Given the description of an element on the screen output the (x, y) to click on. 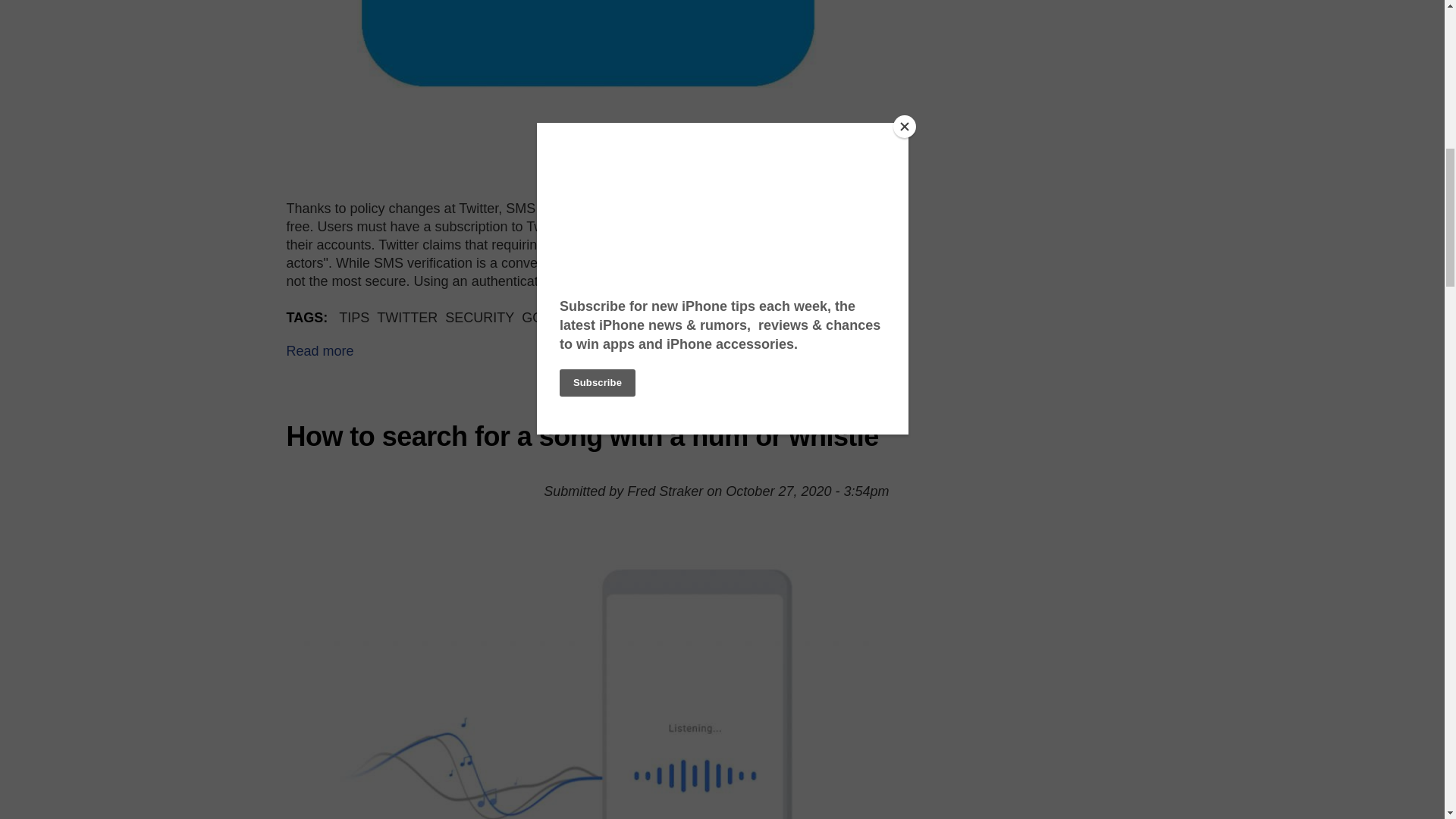
GOOGLE (550, 317)
How to search for a song with a hum or whistle (582, 436)
How to use Google Authenticator for Twitter 2FA (319, 350)
TWITTER (407, 317)
SECURITY (479, 317)
Twitter bird (587, 88)
TIPS (354, 317)
